Given the description of an element on the screen output the (x, y) to click on. 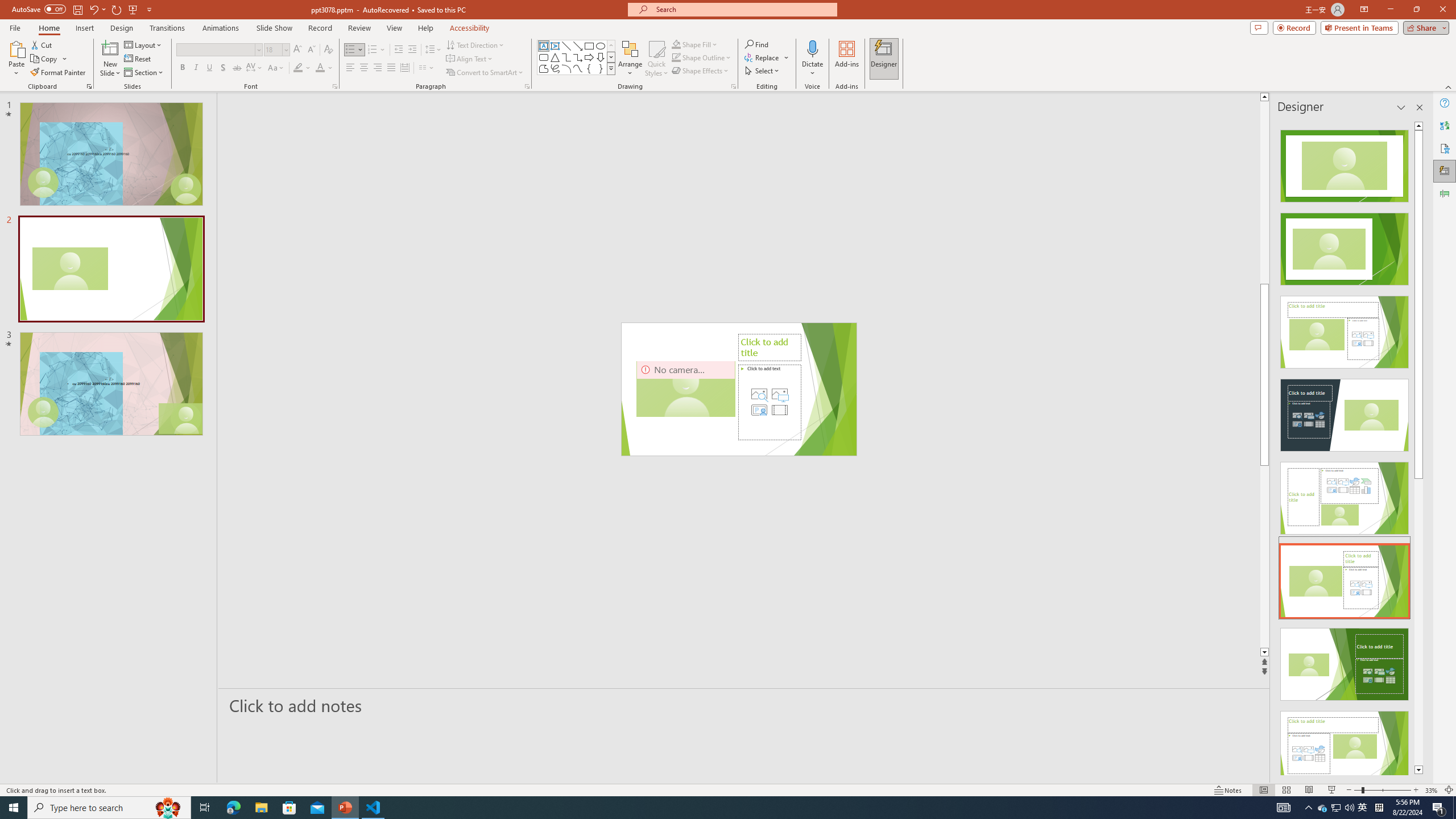
Zoom 33% (1431, 790)
